Given the description of an element on the screen output the (x, y) to click on. 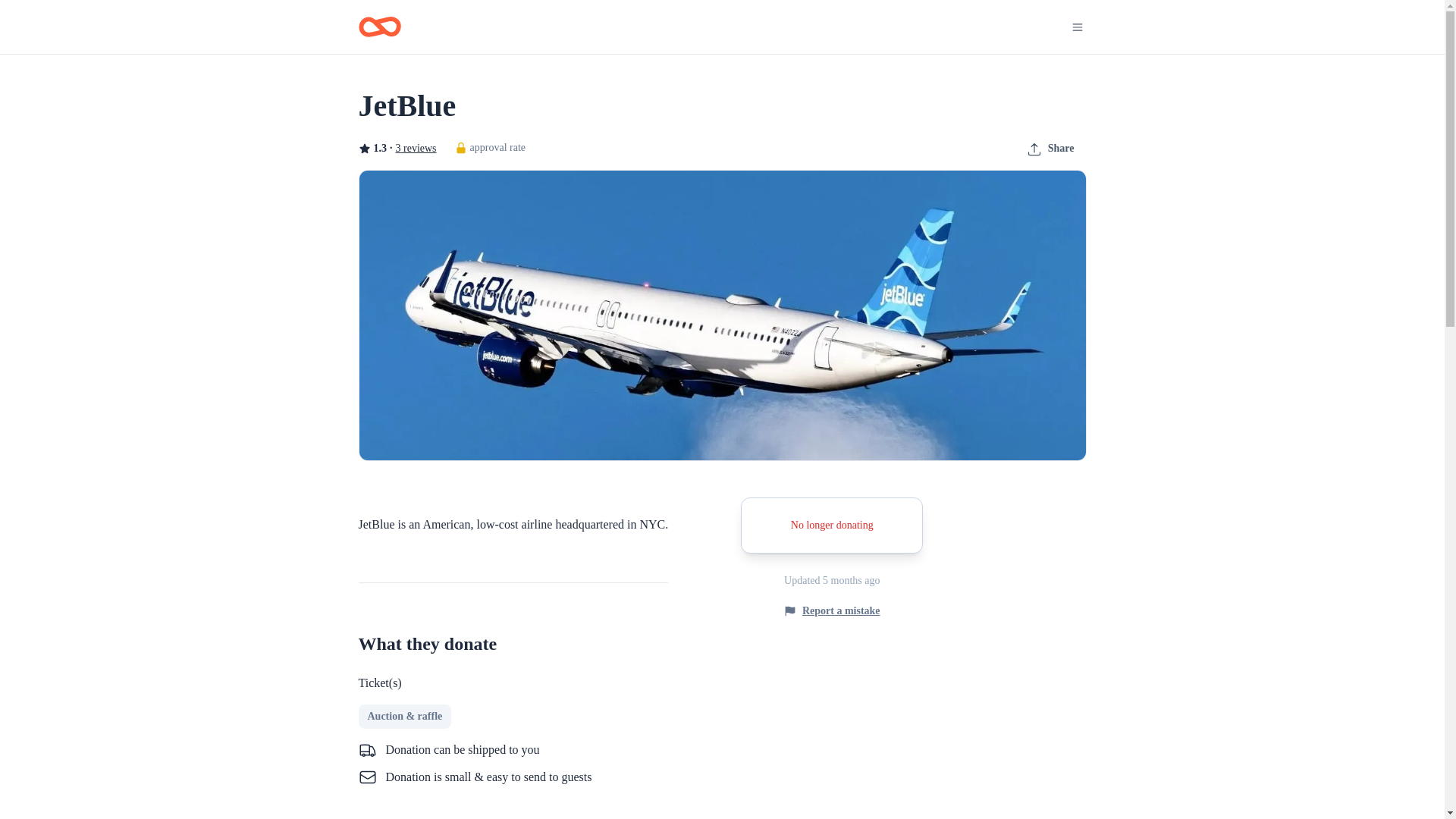
3 reviews (416, 148)
Report a mistake (832, 610)
Share (1050, 148)
approval rate (489, 147)
